Given the description of an element on the screen output the (x, y) to click on. 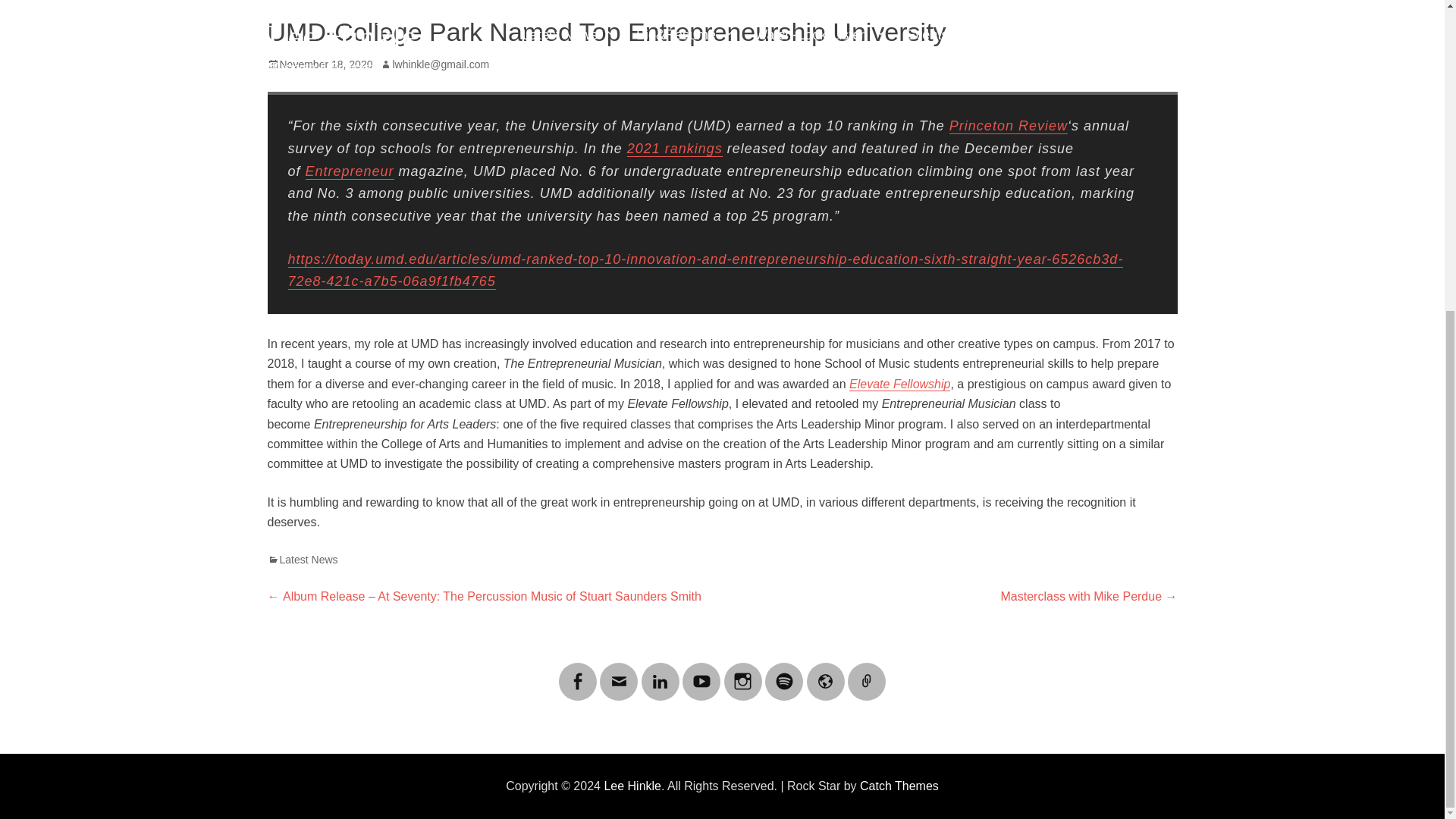
YouTube (701, 671)
Website (825, 671)
Facebook (577, 671)
Link (866, 671)
Princeton Review (1008, 125)
November 18, 2020 (319, 64)
Entrepreneur (349, 171)
Instagram (742, 671)
Spotify (784, 671)
LinkedIn (660, 671)
